Given the description of an element on the screen output the (x, y) to click on. 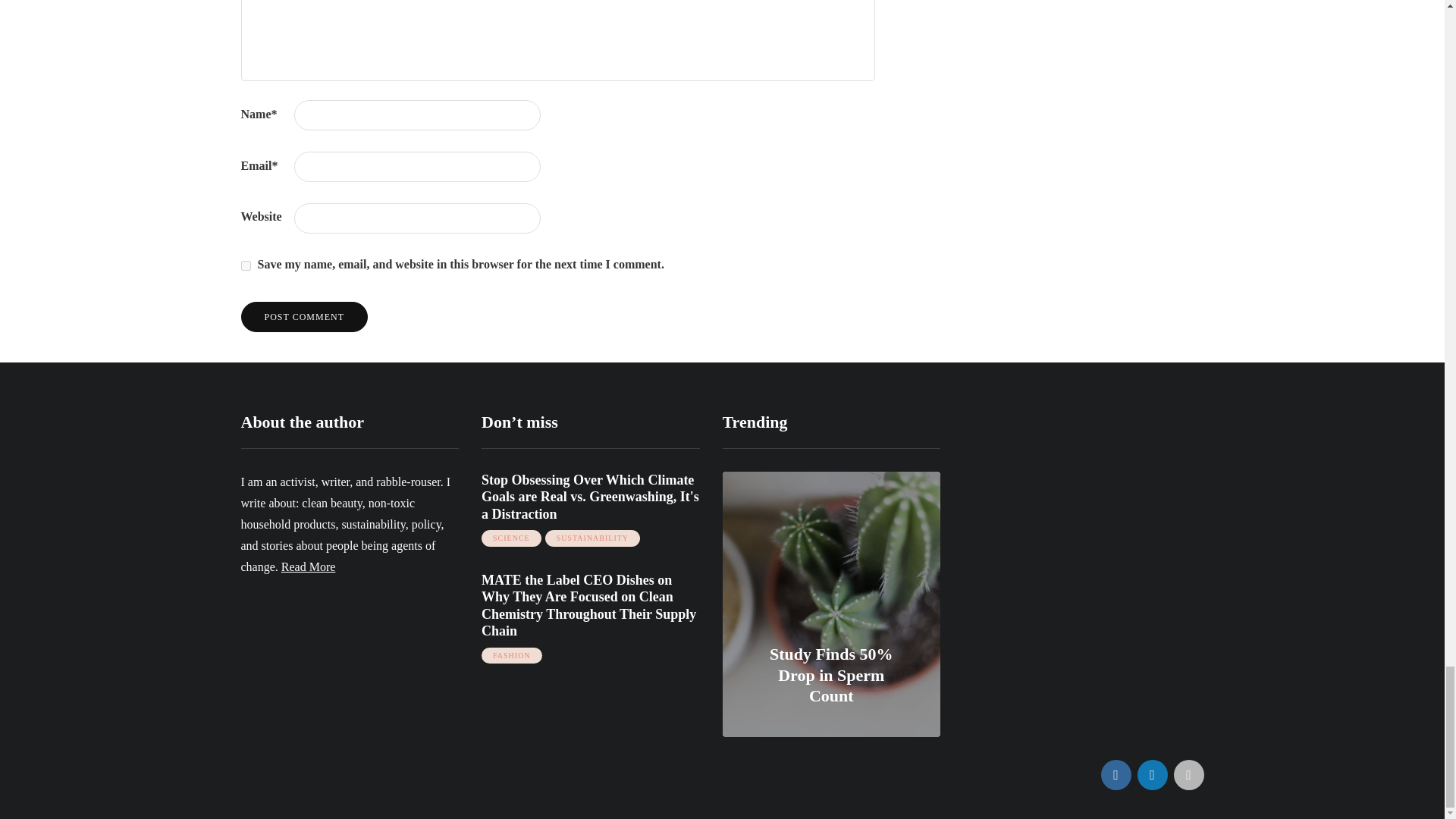
Post comment (304, 317)
yes (245, 266)
